Given the description of an element on the screen output the (x, y) to click on. 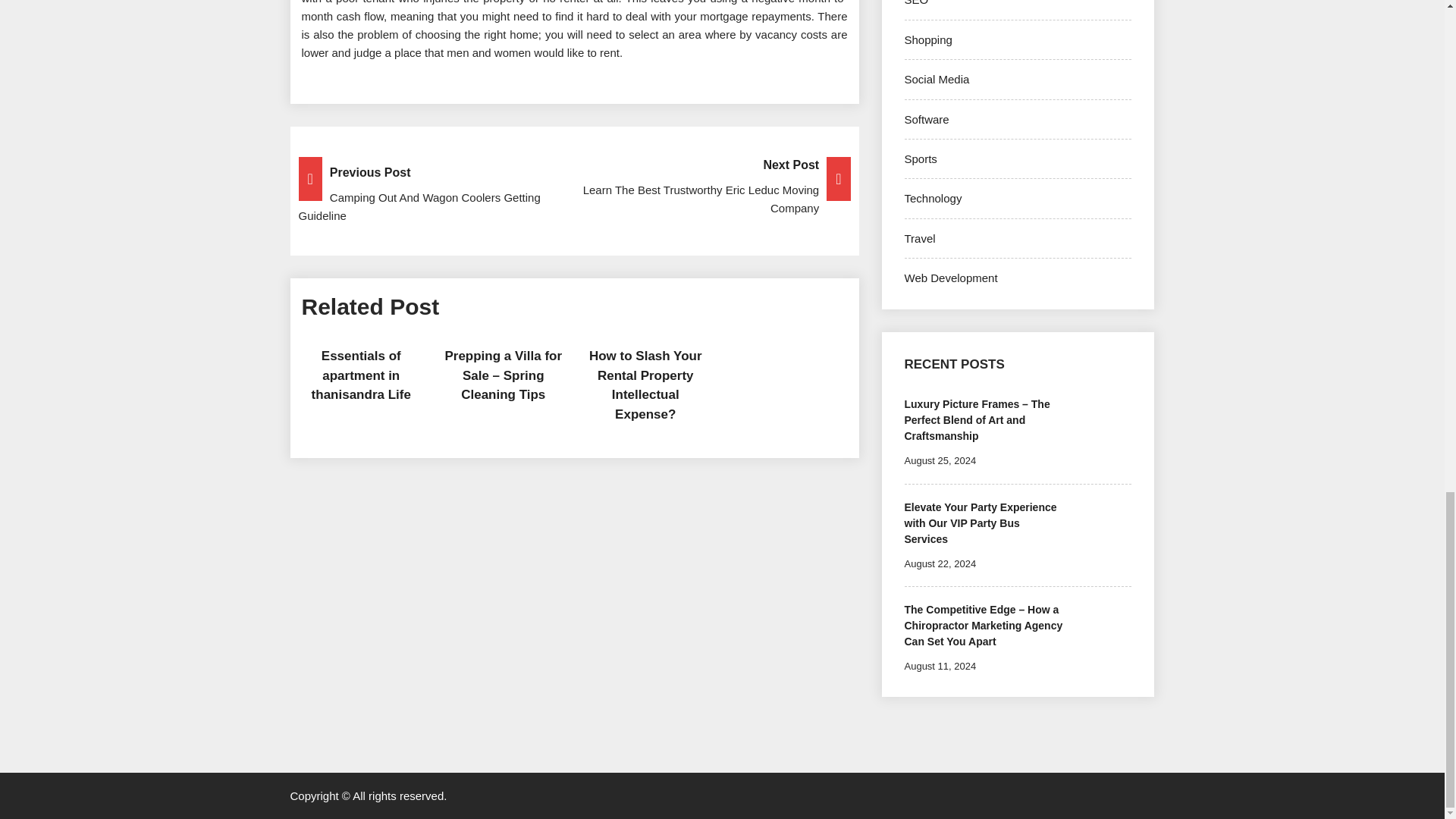
How to Slash Your Rental Property Intellectual Expense? (645, 384)
Essentials of apartment in thanisandra Life (360, 375)
